Given the description of an element on the screen output the (x, y) to click on. 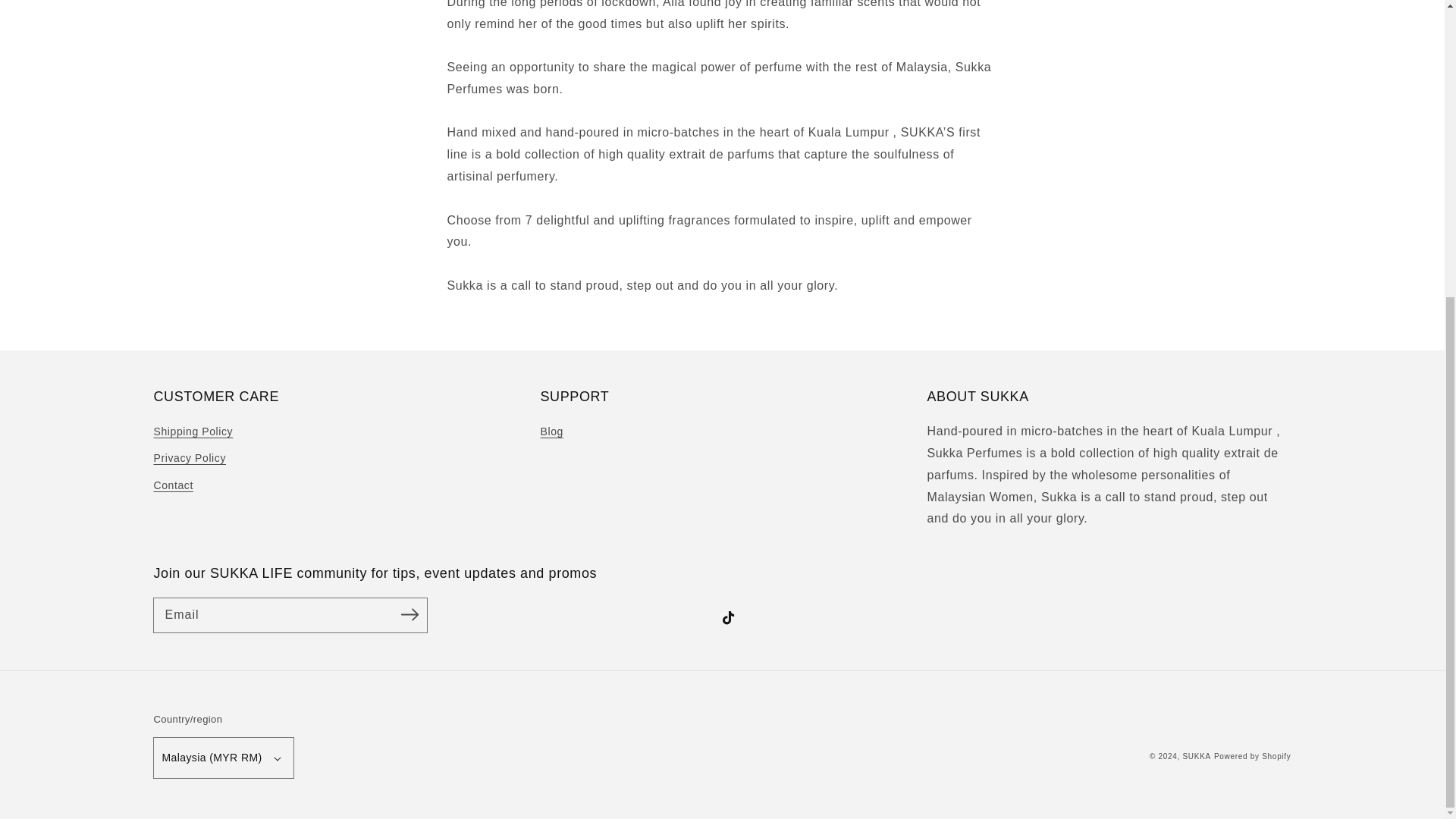
SUKKA (1196, 756)
Powered by Shopify (1252, 756)
Shipping Policy (192, 433)
Blog (551, 433)
Contact (172, 485)
Privacy Policy (188, 458)
